Given the description of an element on the screen output the (x, y) to click on. 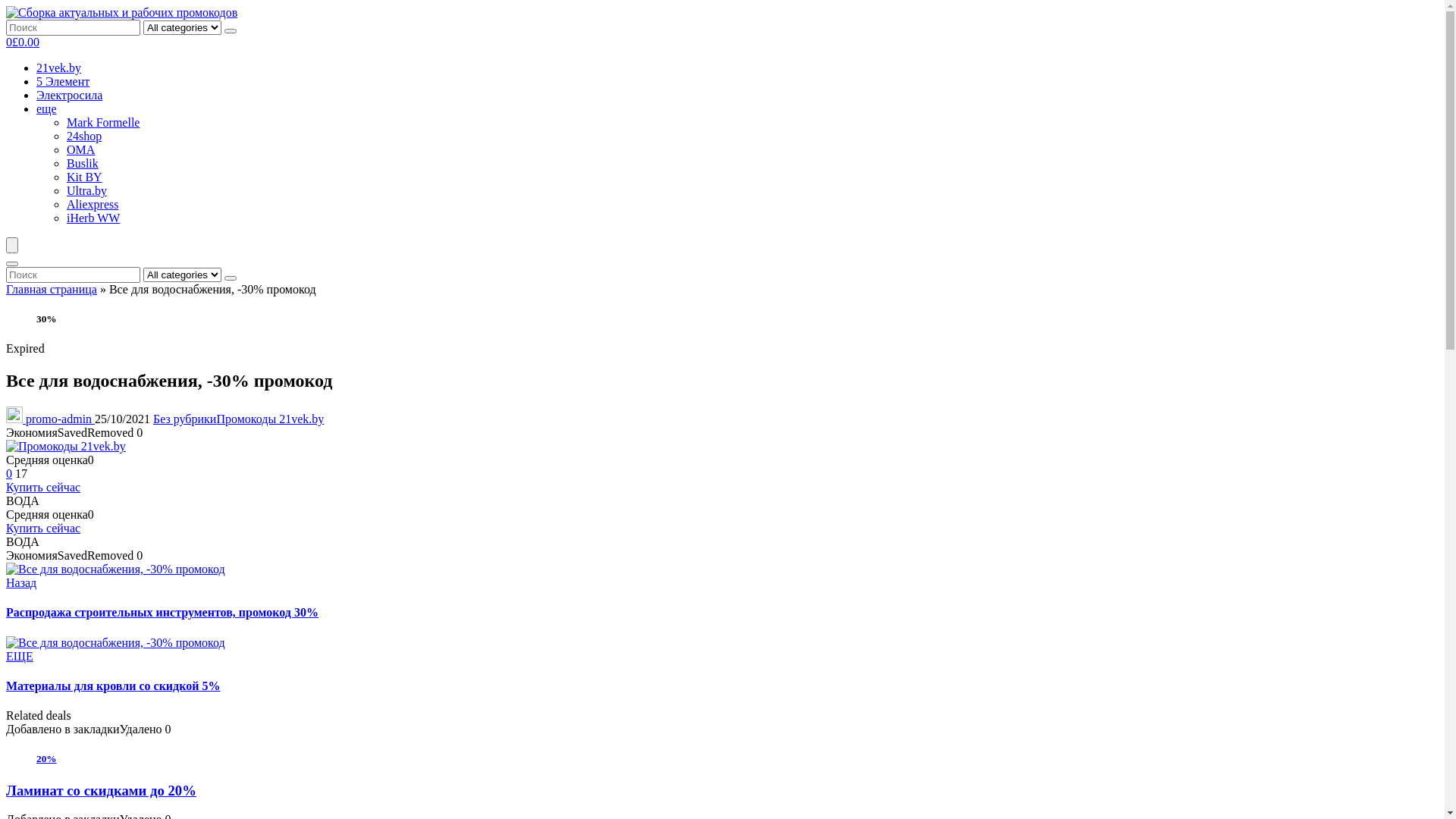
21vek.by Element type: text (58, 67)
0 Element type: text (9, 473)
20% Element type: text (722, 759)
Kit BY Element type: text (84, 176)
Aliexpress Element type: text (92, 203)
OMA Element type: text (80, 149)
iHerb WW Element type: text (92, 217)
promo-admin Element type: text (50, 418)
Ultra.by Element type: text (86, 190)
Mark Formelle Element type: text (102, 122)
24shop Element type: text (83, 135)
Buslik Element type: text (82, 162)
